Given the description of an element on the screen output the (x, y) to click on. 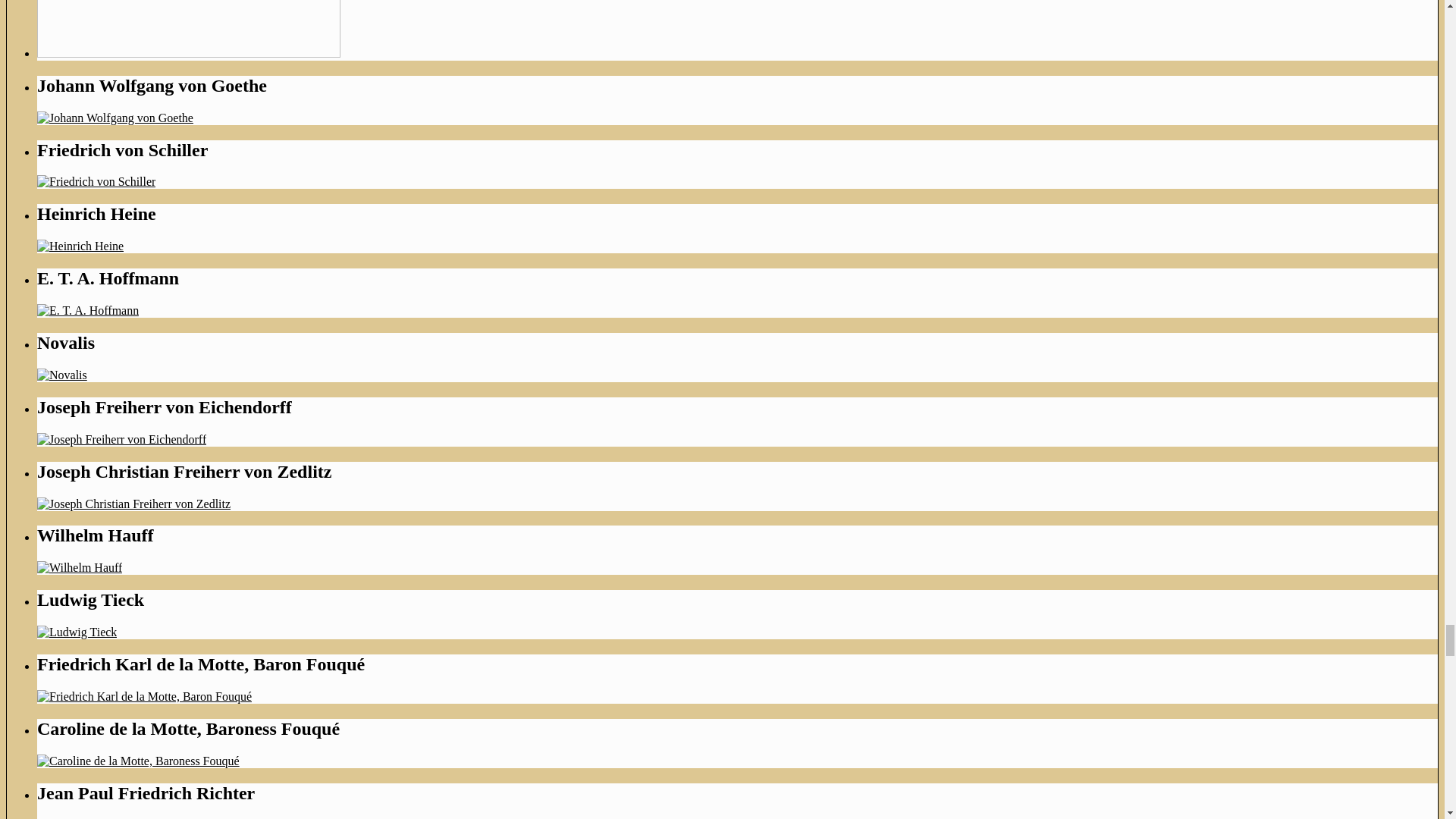
Ludwig Tieck (76, 631)
Heinrich Heine (80, 245)
Wilhelm Hauff (79, 567)
Novalis (62, 374)
Joseph Christian Freiherr von Zedlitz (133, 503)
E. T. A. Hoffmann (87, 309)
Joseph Freiherr von Eichendorff  (121, 439)
Johann Wolfgang von Goethe (115, 117)
Friedrich von Schiller  (96, 181)
